Given the description of an element on the screen output the (x, y) to click on. 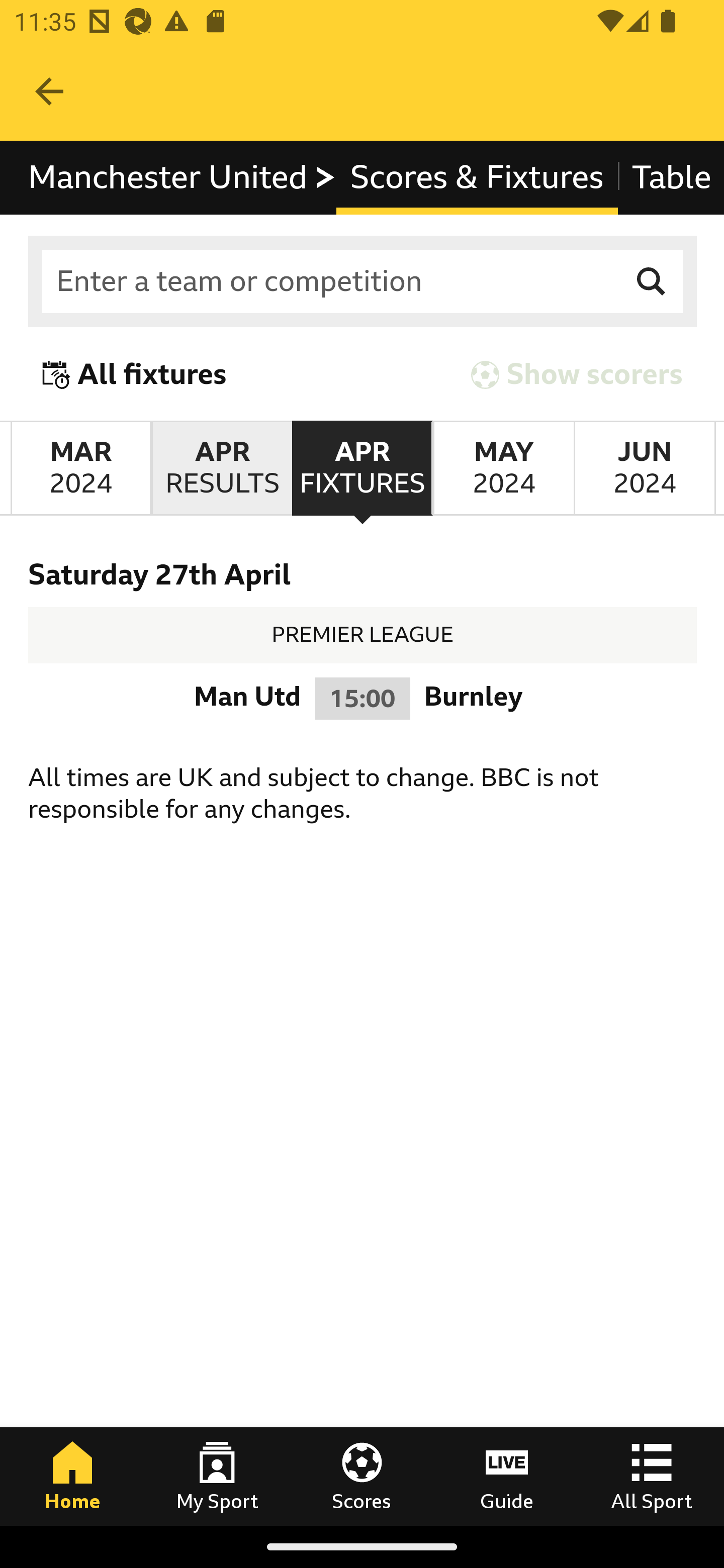
Navigate up (49, 91)
Manchester United  (183, 177)
Scores & Fixtures (476, 177)
Table (670, 177)
Search (651, 282)
All fixtures (134, 374)
Show scorers (576, 374)
March2024 March 2024 (80, 468)
AprilRESULTS April RESULTS (221, 468)
AprilFIXTURES, Selected April FIXTURES , Selected (361, 468)
May2024 May 2024 (502, 468)
June2024 June 2024 (644, 468)
My Sport (216, 1475)
Scores (361, 1475)
Guide (506, 1475)
All Sport (651, 1475)
